Given the description of an element on the screen output the (x, y) to click on. 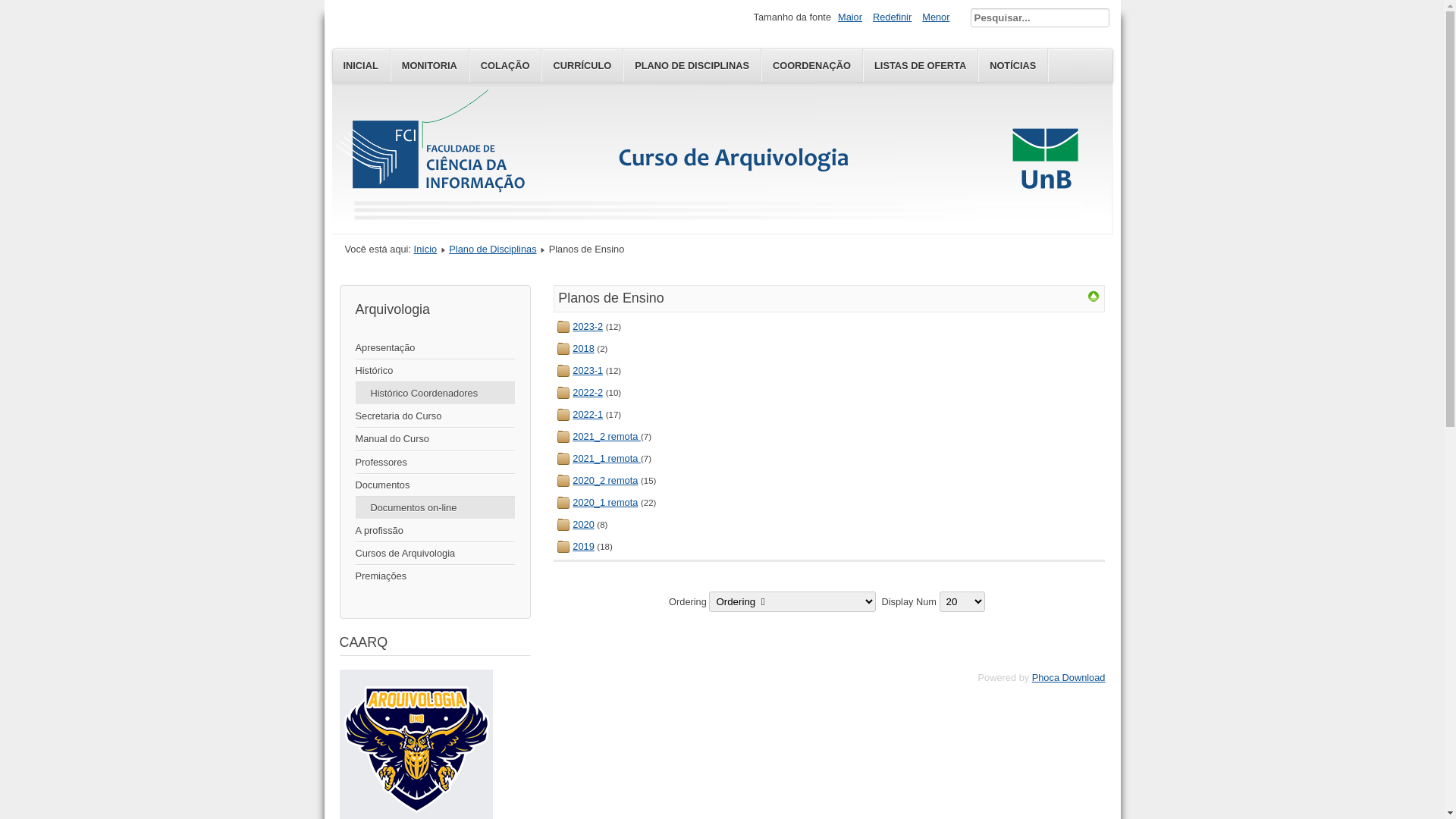
PLANO DE DISCIPLINAS Element type: text (692, 65)
2020_2 remota Element type: text (604, 480)
2018 Element type: text (582, 348)
2019 Element type: text (582, 546)
2021_1 remota Element type: text (606, 458)
Manual do Curso Element type: text (434, 438)
2020_1 remota Element type: text (604, 502)
Documentos Element type: text (434, 484)
2021_2 remota Element type: text (606, 436)
2022-1 Element type: text (587, 414)
2022-2 Element type: text (587, 392)
2023-1 Element type: text (587, 370)
Maior Element type: text (850, 16)
Plano de Disciplinas Element type: text (492, 248)
Professores Element type: text (434, 462)
Phoca Download Element type: text (1068, 677)
Secretaria do Curso Element type: text (434, 415)
MONITORIA Element type: text (429, 65)
Redefinir Element type: text (892, 16)
LISTAS DE OFERTA Element type: text (920, 65)
2020 Element type: text (582, 524)
Cursos de Arquivologia Element type: text (434, 553)
INICIAL Element type: text (361, 65)
Categories Element type: hover (1093, 298)
Documentos on-line Element type: text (434, 507)
2023-2 Element type: text (587, 326)
Menor Element type: text (935, 16)
